Given the description of an element on the screen output the (x, y) to click on. 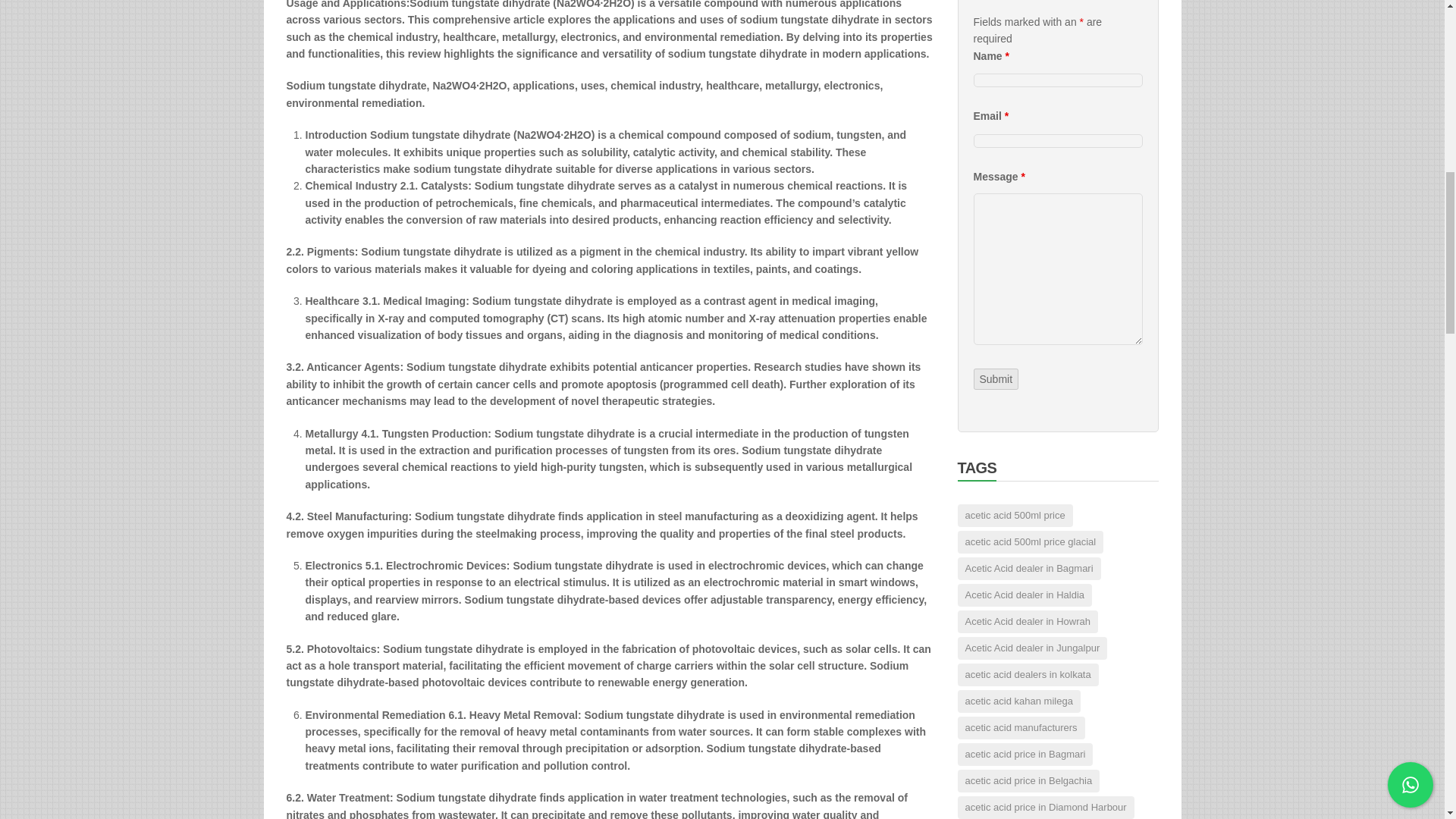
Submit (996, 378)
